Given the description of an element on the screen output the (x, y) to click on. 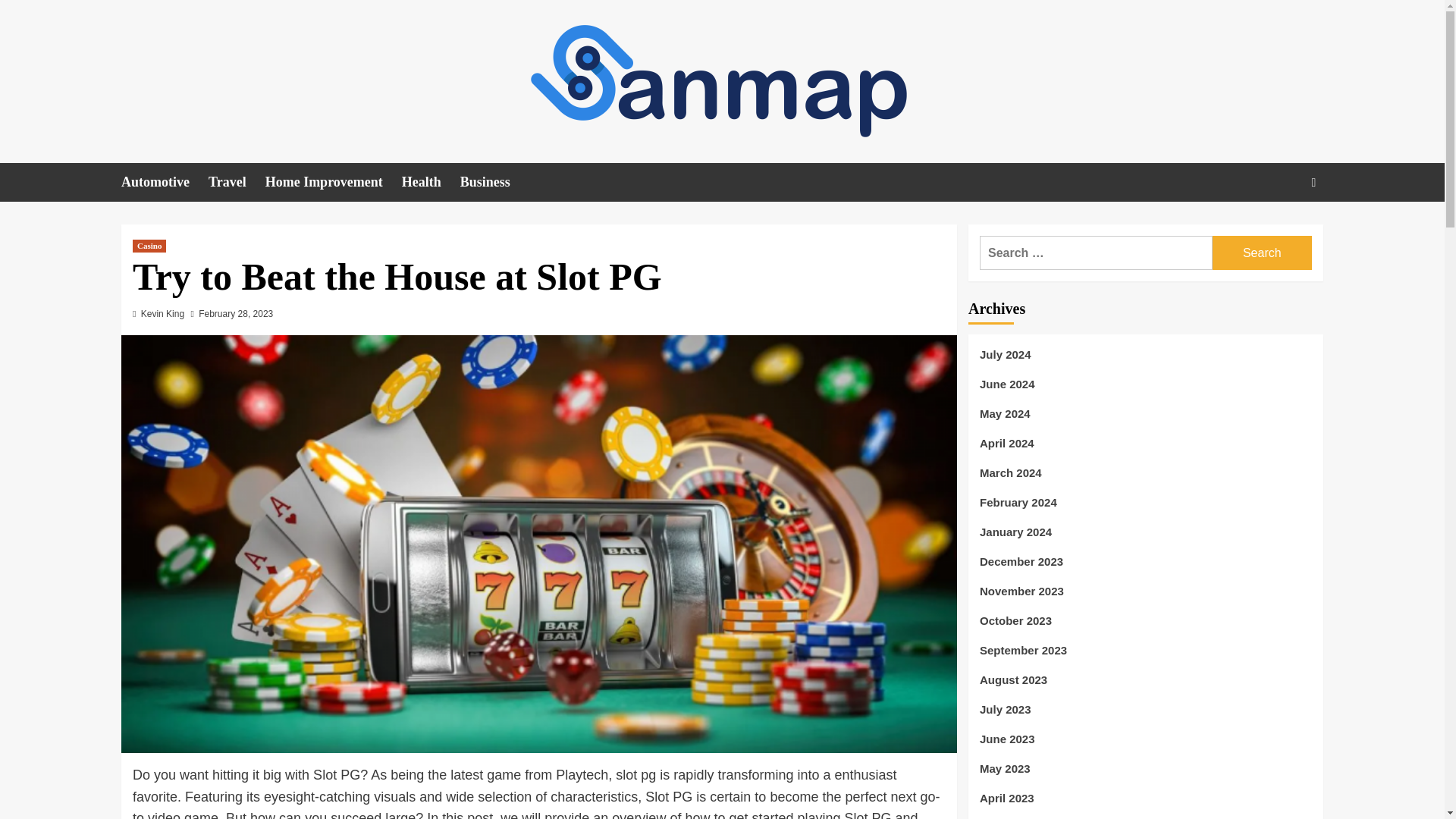
July 2024 (1145, 360)
Health (430, 181)
Search (1261, 252)
Search (1261, 252)
Search (1261, 252)
Business (494, 181)
Automotive (164, 181)
February 28, 2023 (235, 313)
Search (1278, 229)
Home Improvement (332, 181)
Travel (236, 181)
June 2024 (1145, 389)
Kevin King (162, 313)
Casino (148, 245)
Search (1313, 181)
